Given the description of an element on the screen output the (x, y) to click on. 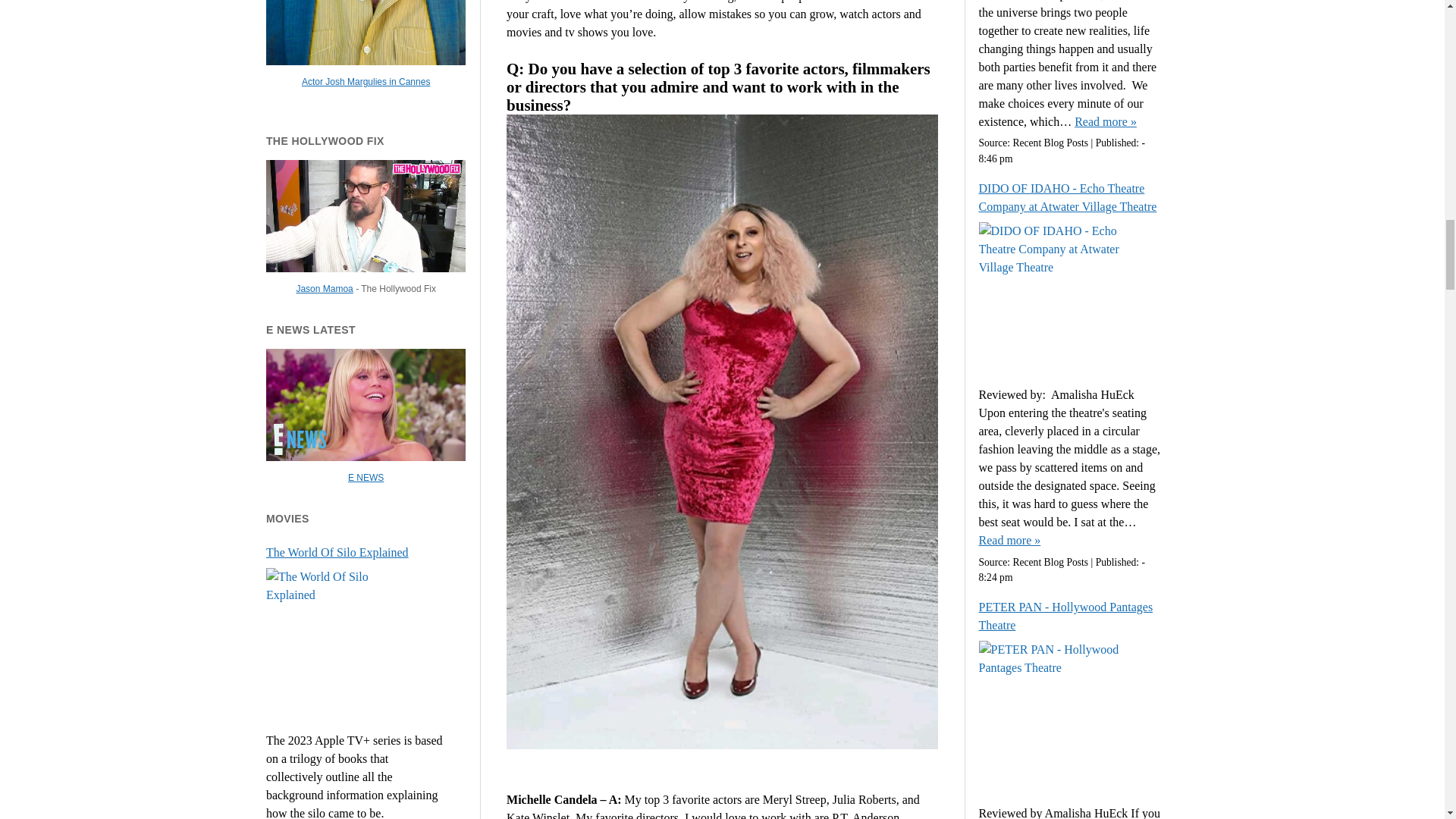
The World Of Silo Explained (357, 552)
E NEWS (365, 477)
Jason Mamoa (323, 288)
The World Of Silo Explained (357, 552)
Actor Josh Margulies in Cannes (365, 81)
